Given the description of an element on the screen output the (x, y) to click on. 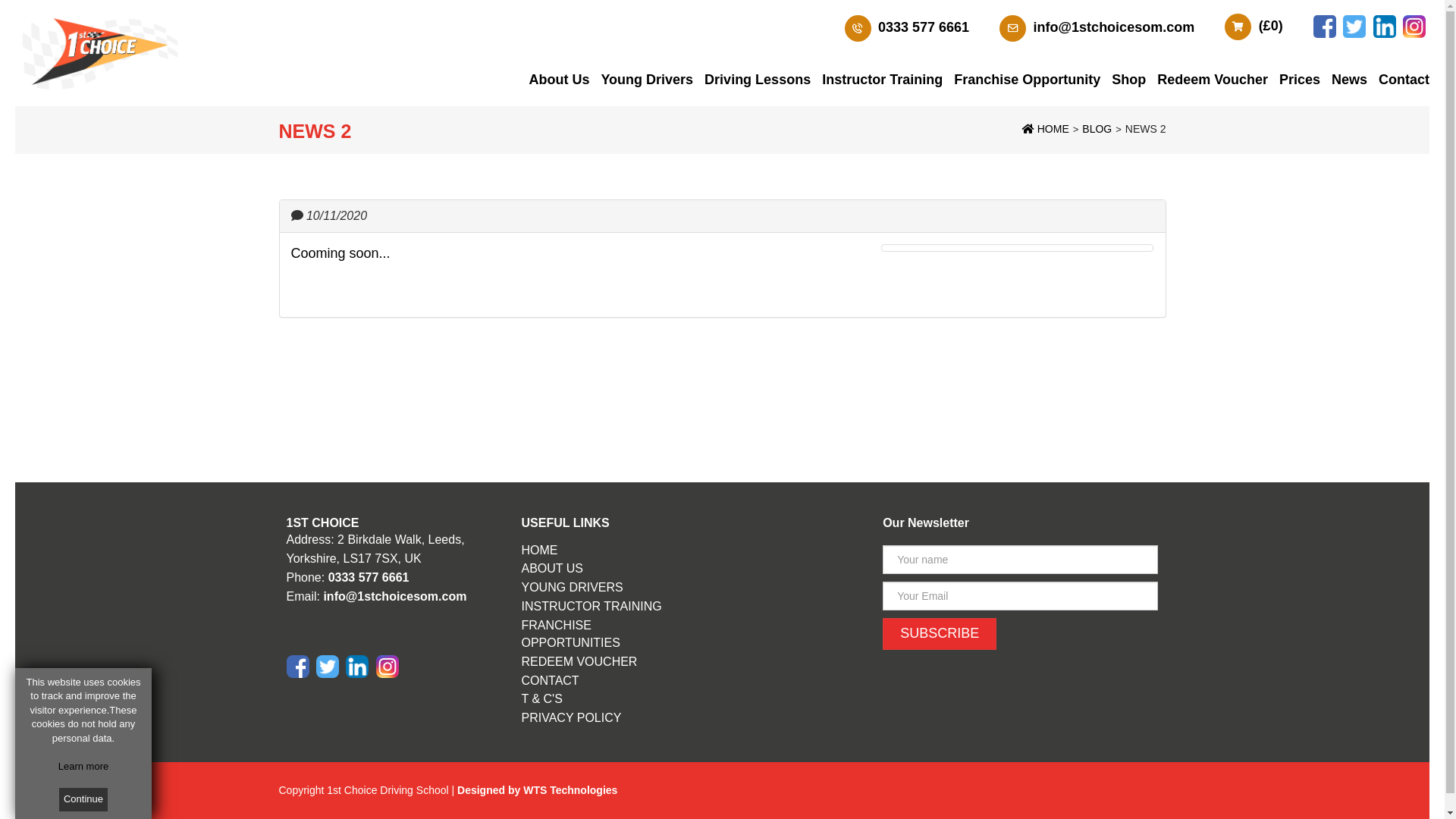
PRIVACY POLICY Element type: text (571, 717)
Young Drivers Element type: text (646, 79)
info@1stchoicesom.com Element type: text (1114, 26)
info@1stchoicesom.com Element type: text (394, 595)
REDEEM VOUCHER Element type: text (579, 661)
Designed by WTS Technologies Element type: text (537, 790)
HOME Element type: text (539, 549)
Driving Lessons Element type: text (757, 79)
News Element type: text (1349, 79)
CONTACT Element type: text (550, 679)
Franchise Opportunity Element type: text (1027, 79)
0333 577 6661 Element type: text (368, 577)
Shop Element type: text (1128, 79)
Prices Element type: text (1299, 79)
HOME Element type: text (1045, 128)
Continue Element type: text (83, 799)
Learn more Element type: text (83, 765)
FRANCHISE OPPORTUNITIES Element type: text (570, 633)
0333 577 6661 Element type: text (923, 26)
BLOG Element type: text (1096, 128)
SUBSCRIBE Element type: text (939, 634)
T & C'S Element type: text (541, 698)
Instructor Training Element type: text (882, 79)
Contact Element type: text (1403, 79)
About Us Element type: text (558, 79)
ABOUT US Element type: text (552, 567)
Redeem Voucher Element type: text (1212, 79)
INSTRUCTOR TRAINING Element type: text (591, 605)
YOUNG DRIVERS Element type: text (572, 586)
